Given the description of an element on the screen output the (x, y) to click on. 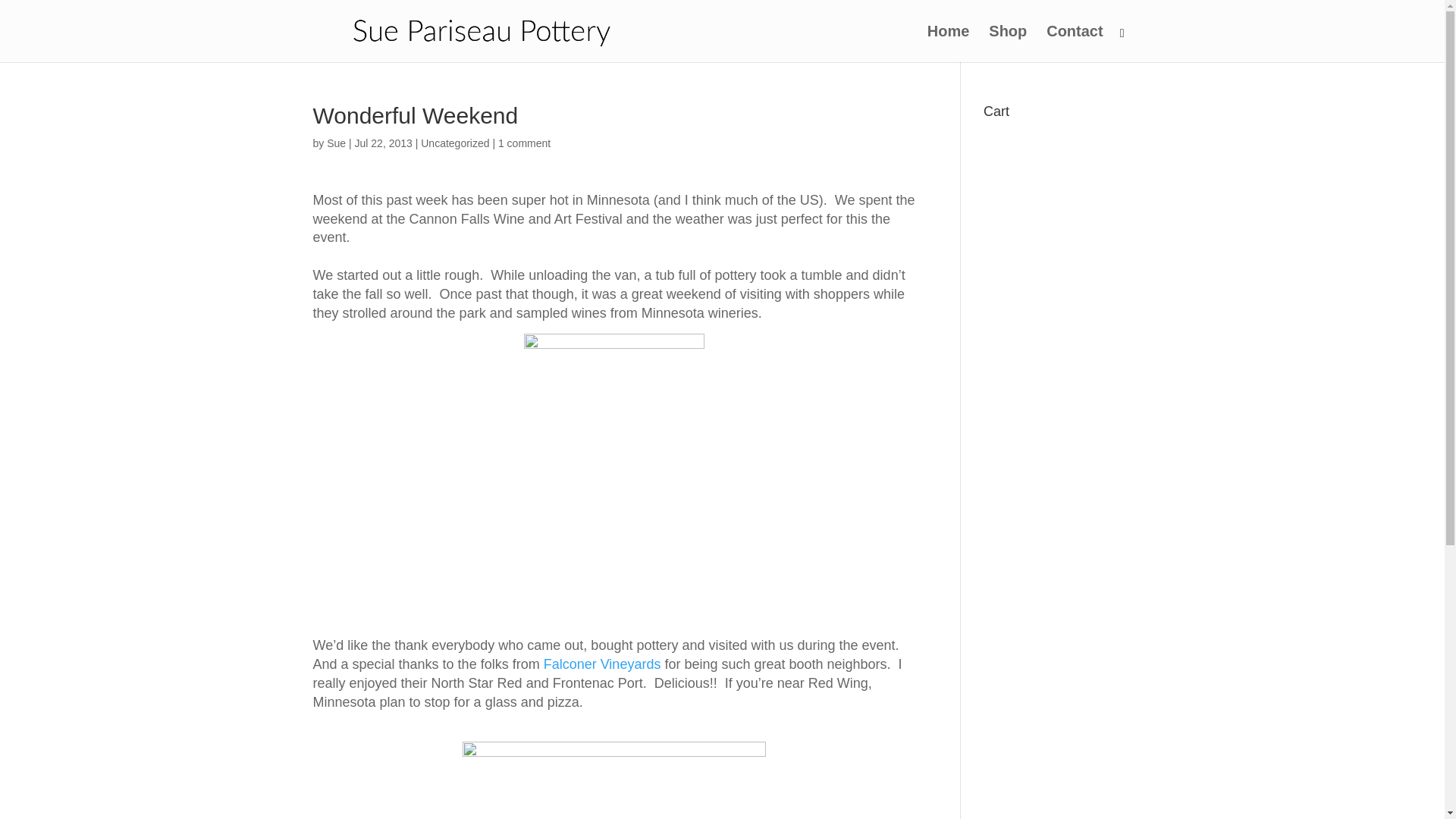
Contact (1074, 43)
Falconer Vineyards (602, 663)
1 comment (523, 143)
Posts by Sue (336, 143)
Home (948, 43)
Shop (1007, 43)
Sue (336, 143)
